Given the description of an element on the screen output the (x, y) to click on. 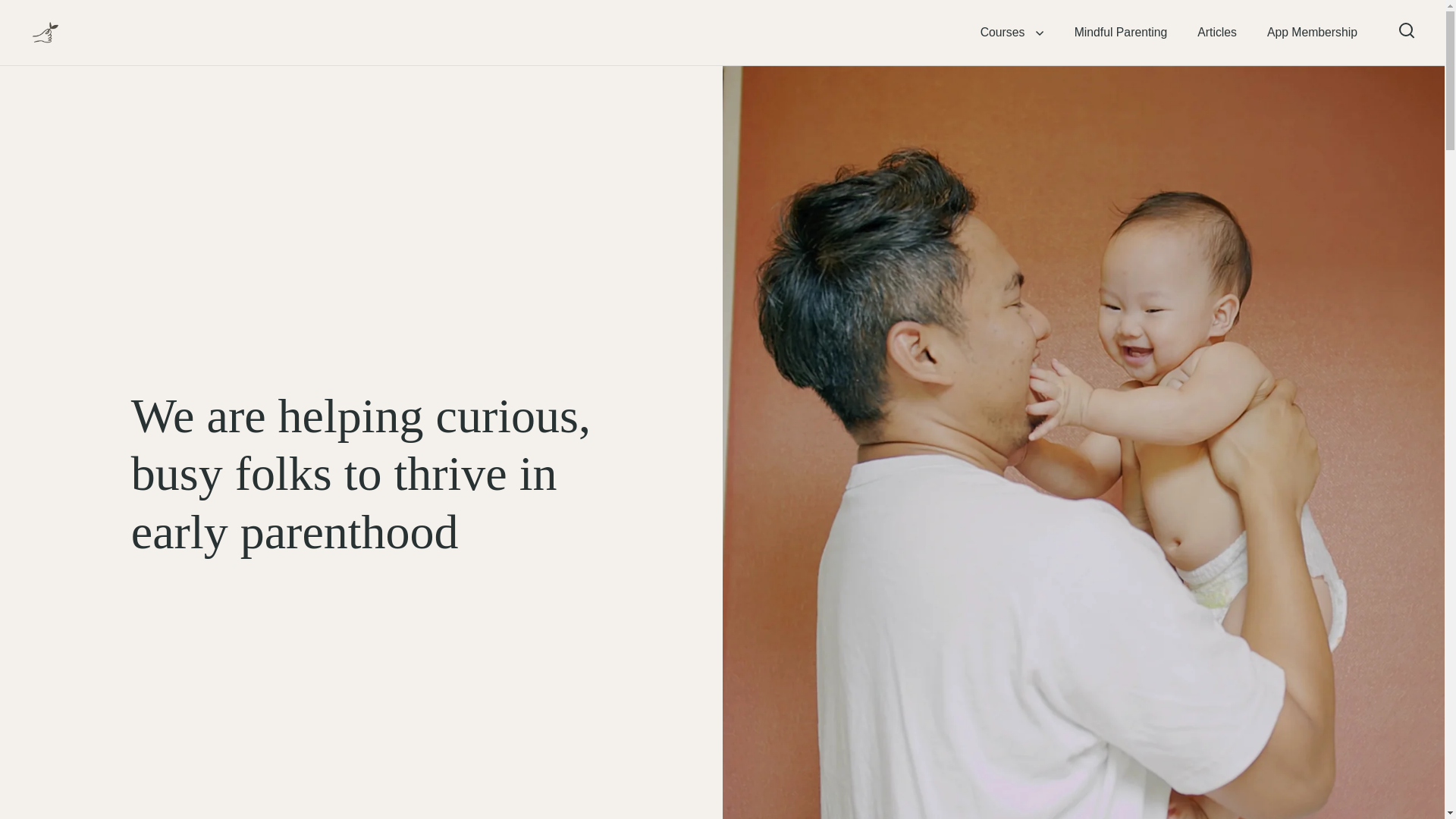
App Membership (1312, 32)
Open search (1406, 30)
Mindful Parenting (1120, 32)
Articles (1217, 32)
Courses (1012, 32)
